Given the description of an element on the screen output the (x, y) to click on. 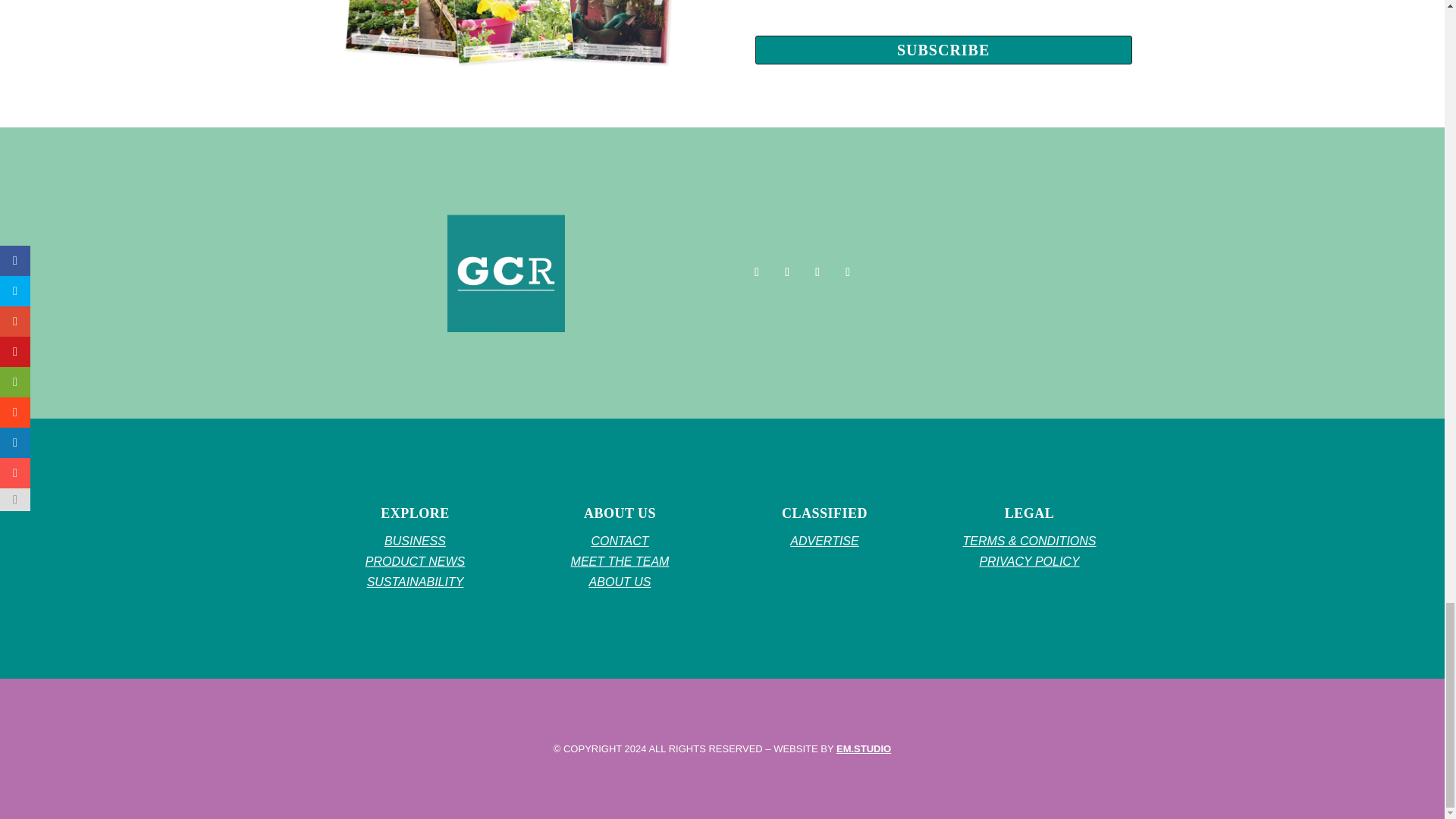
Follow on Facebook (756, 272)
Follow on Instagram (817, 272)
Follow on Twitter (786, 272)
Follow on LinkedIn (847, 272)
